Given the description of an element on the screen output the (x, y) to click on. 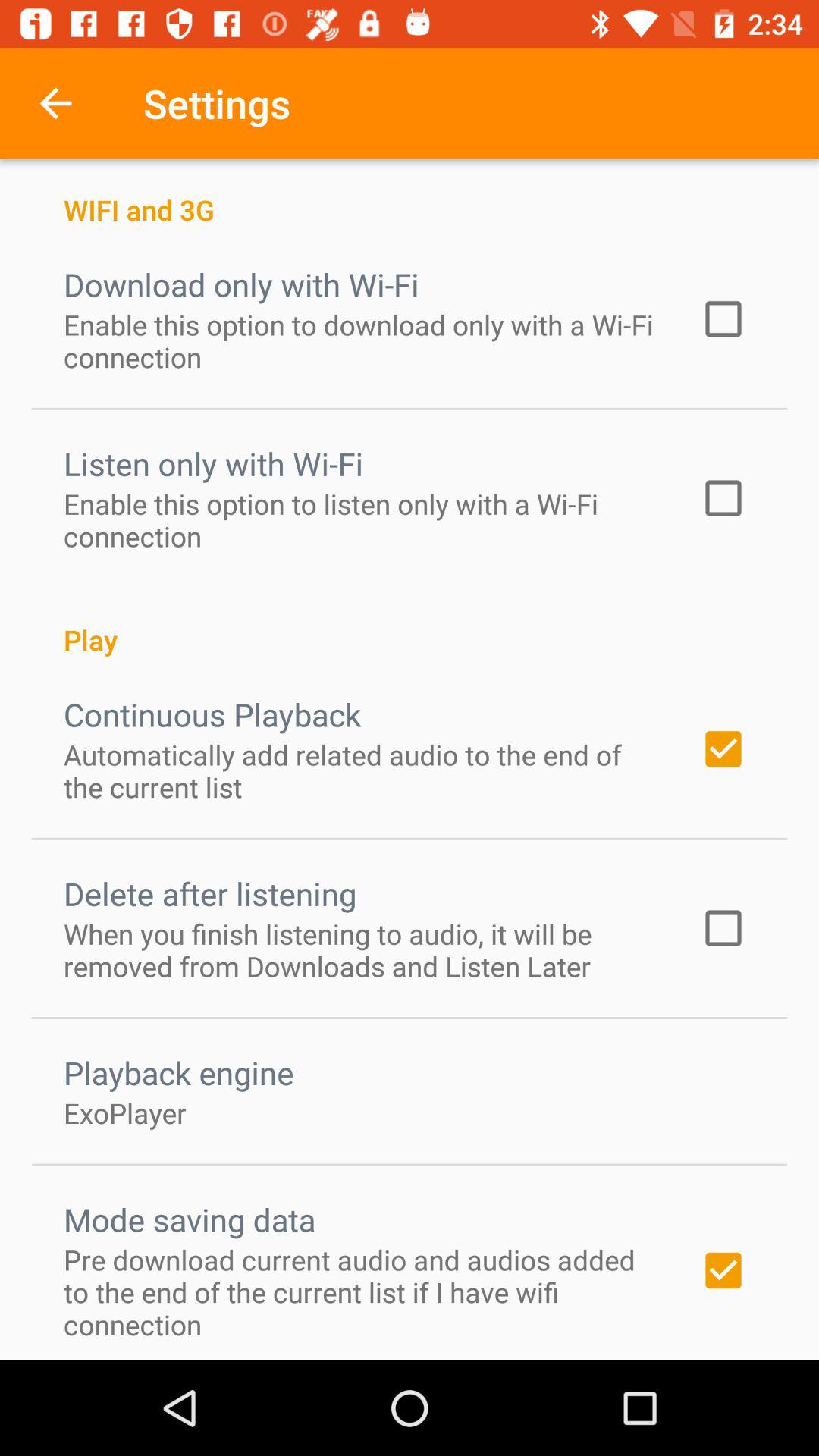
choose the icon below playback engine (124, 1112)
